Given the description of an element on the screen output the (x, y) to click on. 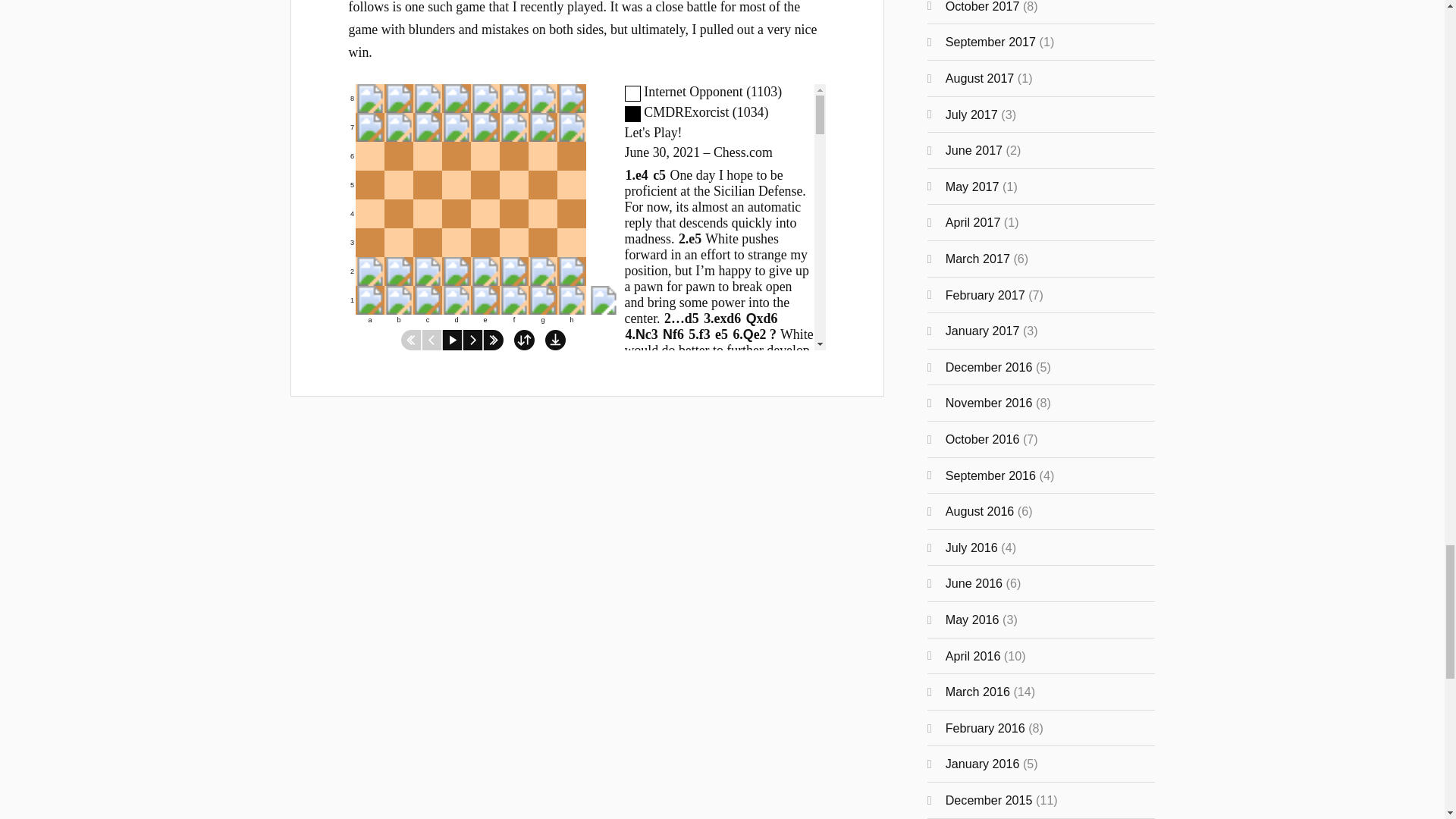
Go to the next move (483, 204)
Go to the beginning of the game (473, 340)
Go to the previous move (411, 340)
Go to the end of the game (432, 340)
